Given the description of an element on the screen output the (x, y) to click on. 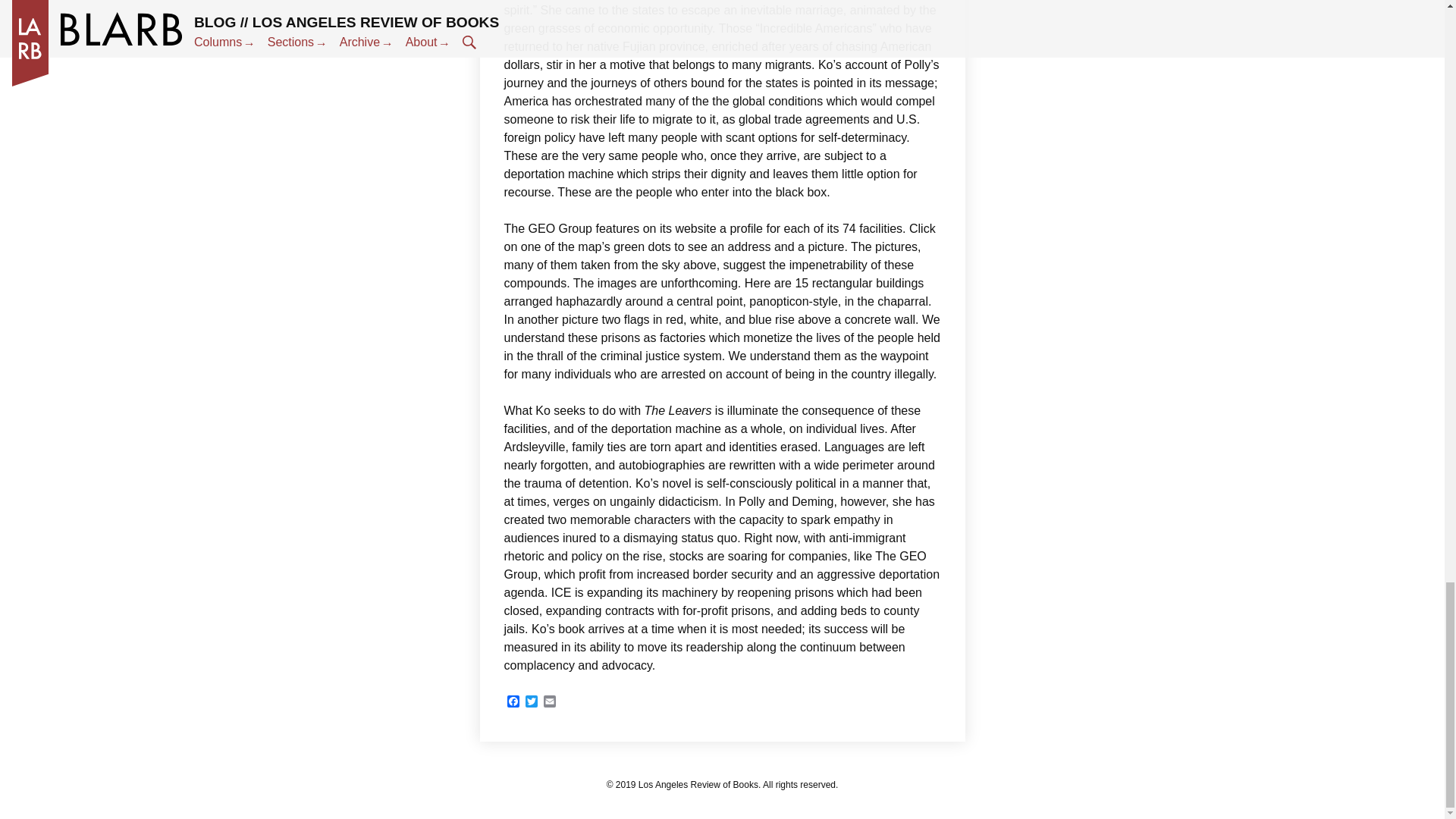
Twitter (530, 702)
Facebook (512, 702)
Email (548, 702)
